Given the description of an element on the screen output the (x, y) to click on. 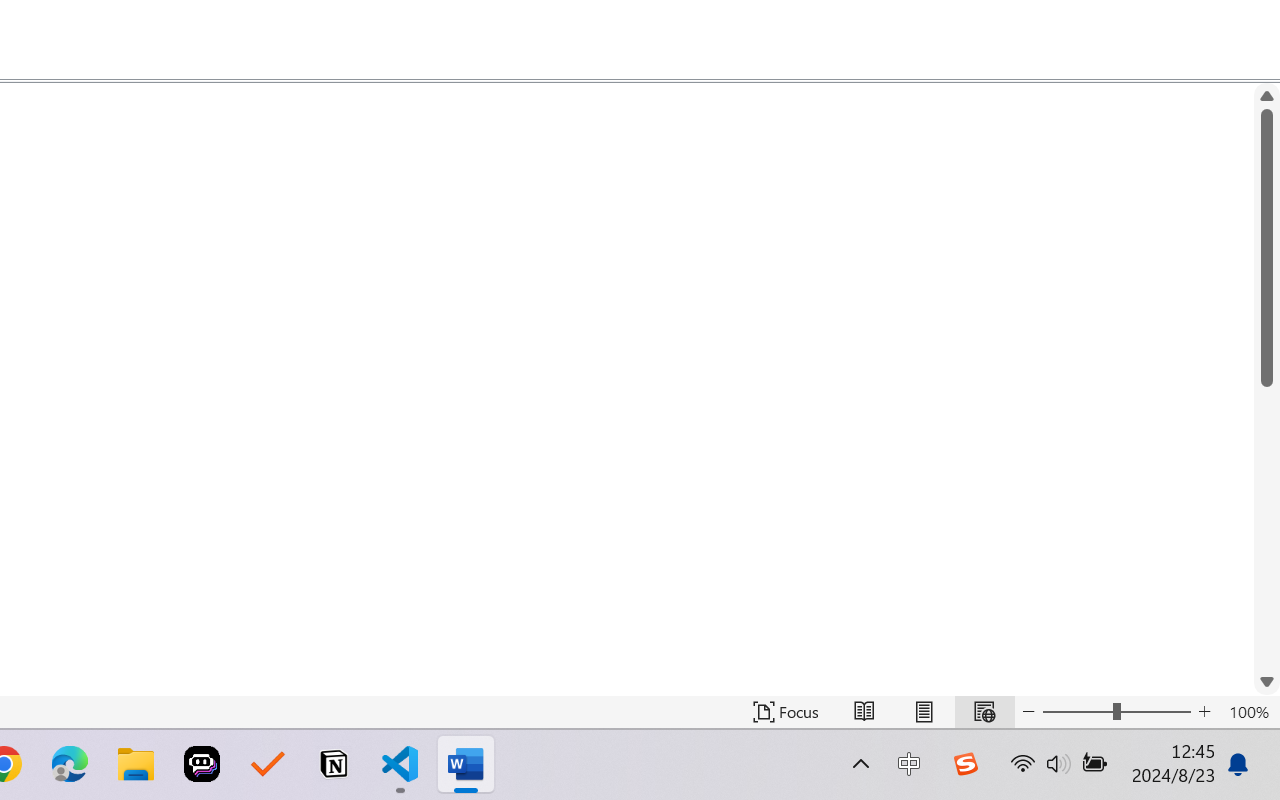
Line down (1267, 681)
Line up (1267, 95)
Zoom 100% (1249, 712)
Page down (1267, 527)
